Given the description of an element on the screen output the (x, y) to click on. 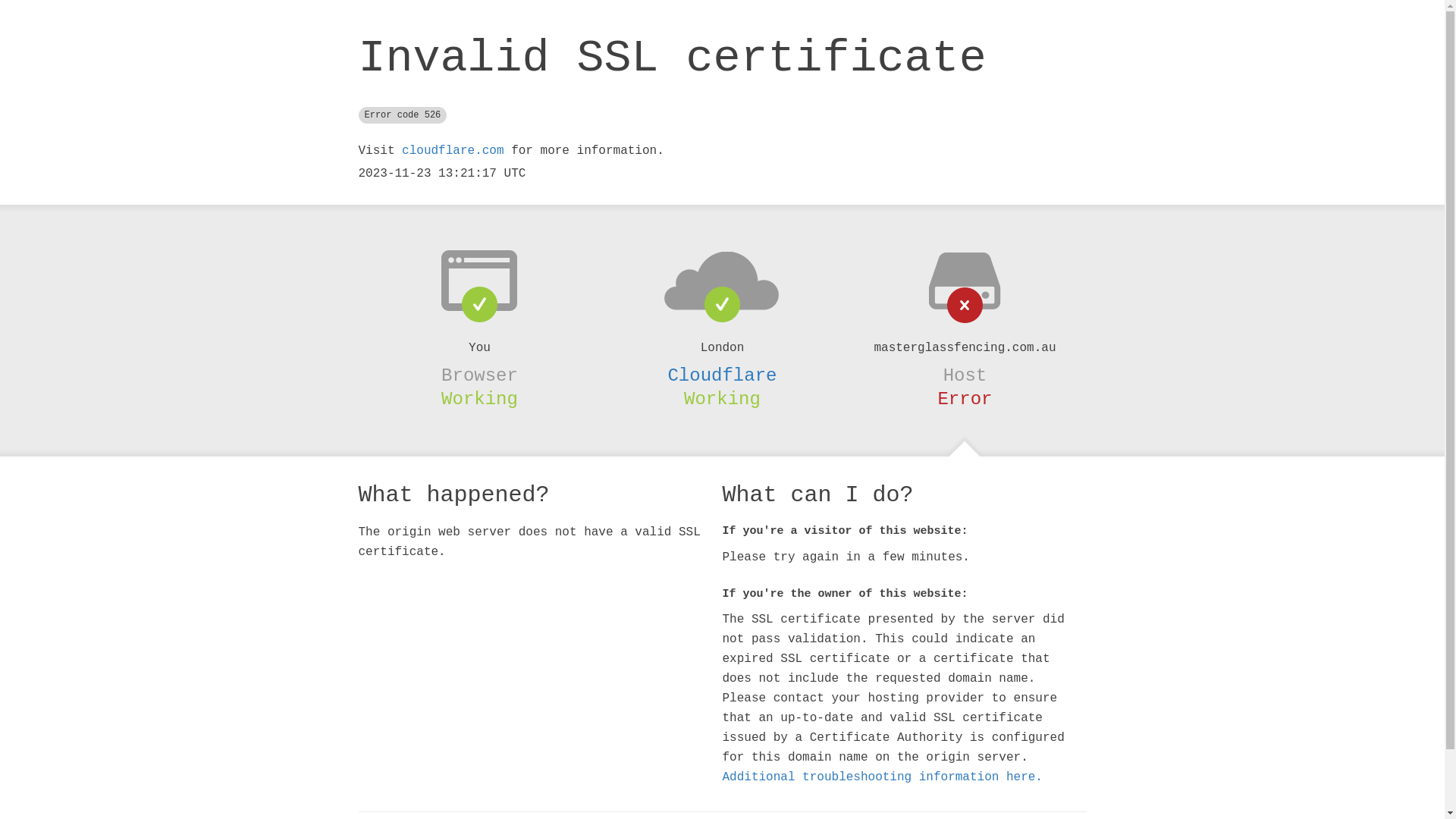
cloudflare.com Element type: text (452, 150)
Additional troubleshooting information here. Element type: text (881, 777)
Cloudflare Element type: text (721, 375)
